Given the description of an element on the screen output the (x, y) to click on. 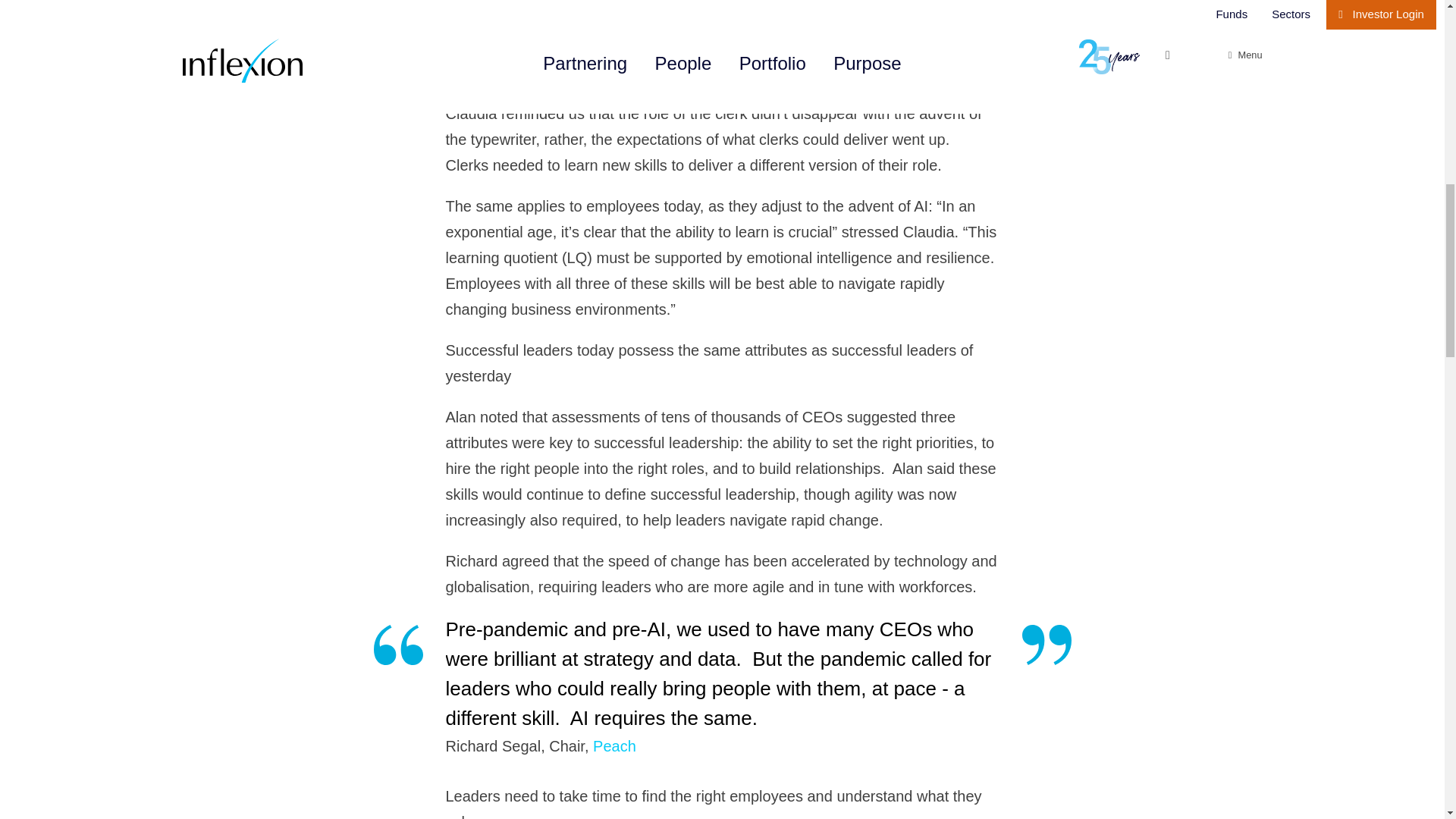
Peach (614, 745)
Medik8 (564, 7)
Peach (524, 31)
